Given the description of an element on the screen output the (x, y) to click on. 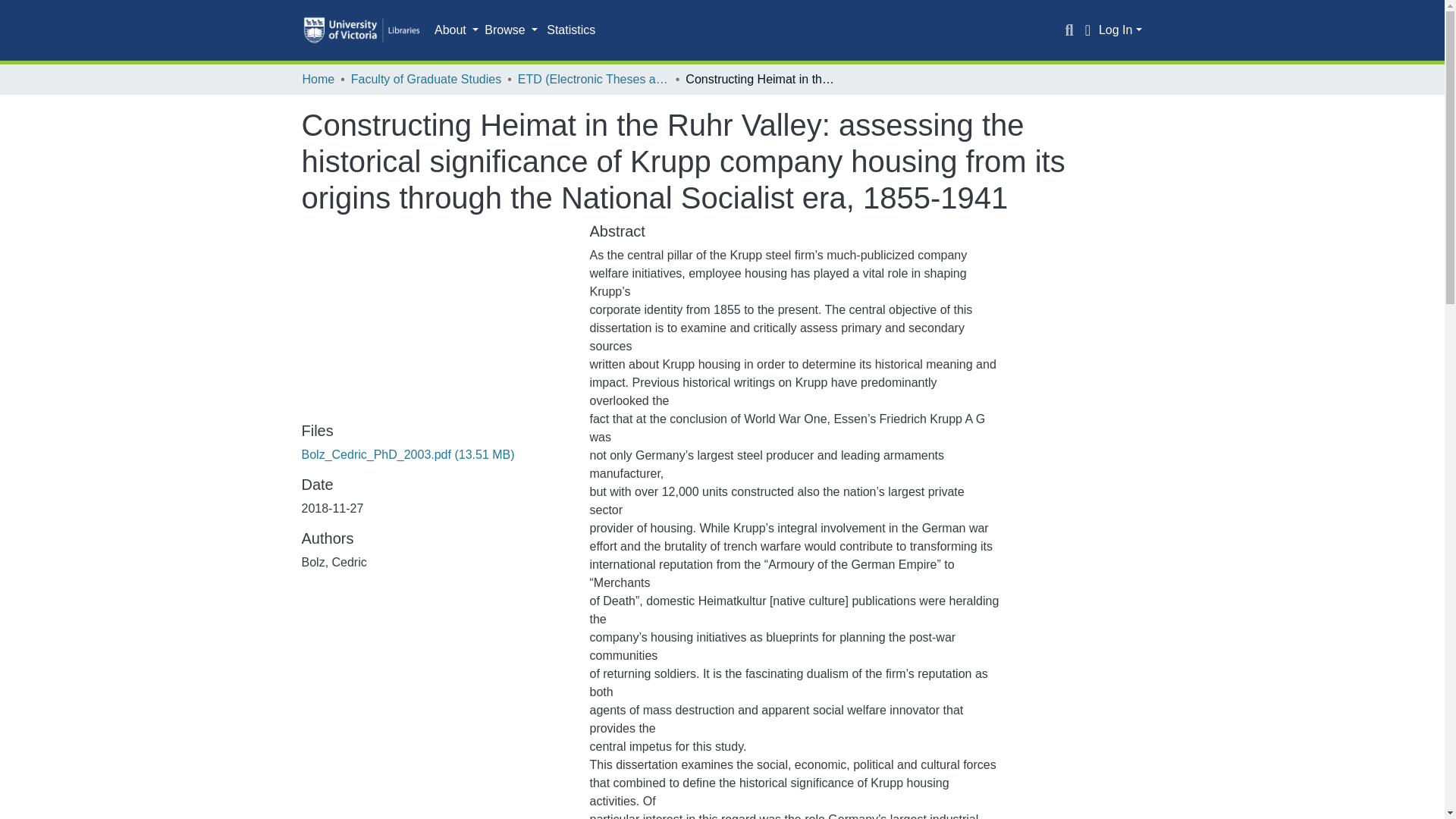
Statistics (570, 30)
Faculty of Graduate Studies (425, 79)
Language switch (1087, 30)
Browse (510, 30)
Search (1068, 30)
About (455, 30)
Log In (1119, 29)
Statistics (570, 30)
Home (317, 79)
